Given the description of an element on the screen output the (x, y) to click on. 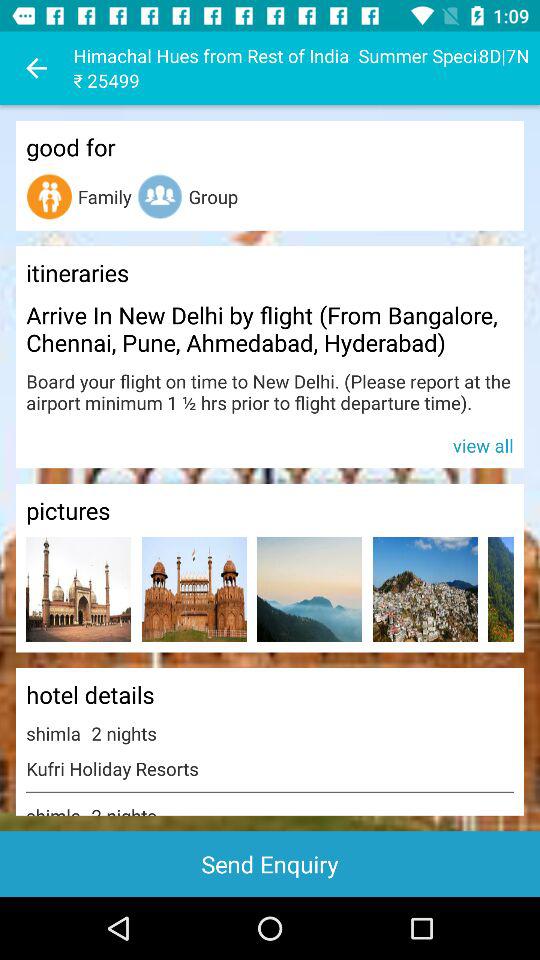
view the picture (309, 589)
